Given the description of an element on the screen output the (x, y) to click on. 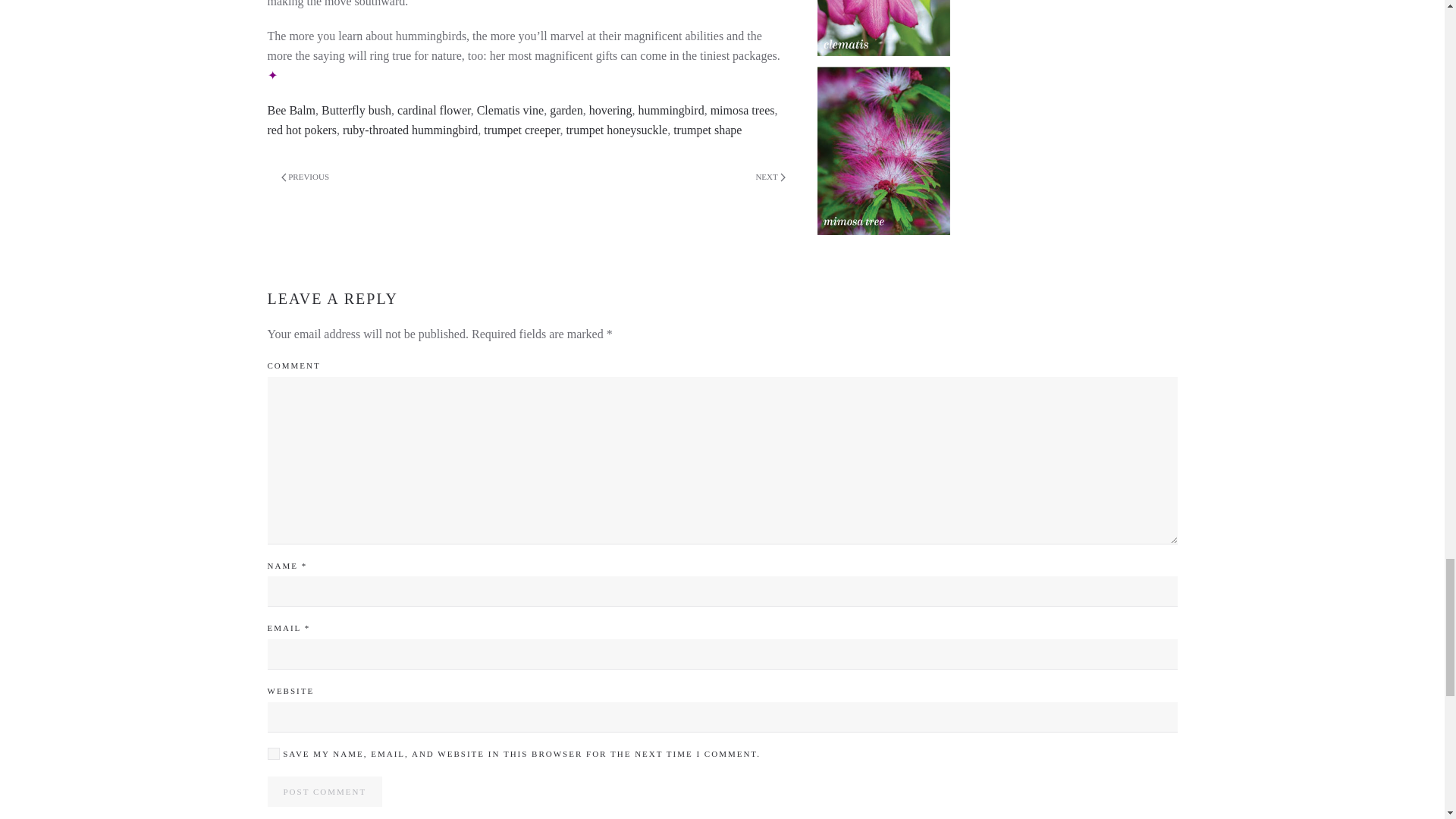
yes (272, 753)
garden (566, 110)
cardinal flower (433, 110)
mimosa trees (742, 110)
Butterfly bush (356, 110)
hummingbird (671, 110)
Bee Balm (290, 110)
hovering (610, 110)
Clematis vine (510, 110)
red hot pokers (301, 129)
